Given the description of an element on the screen output the (x, y) to click on. 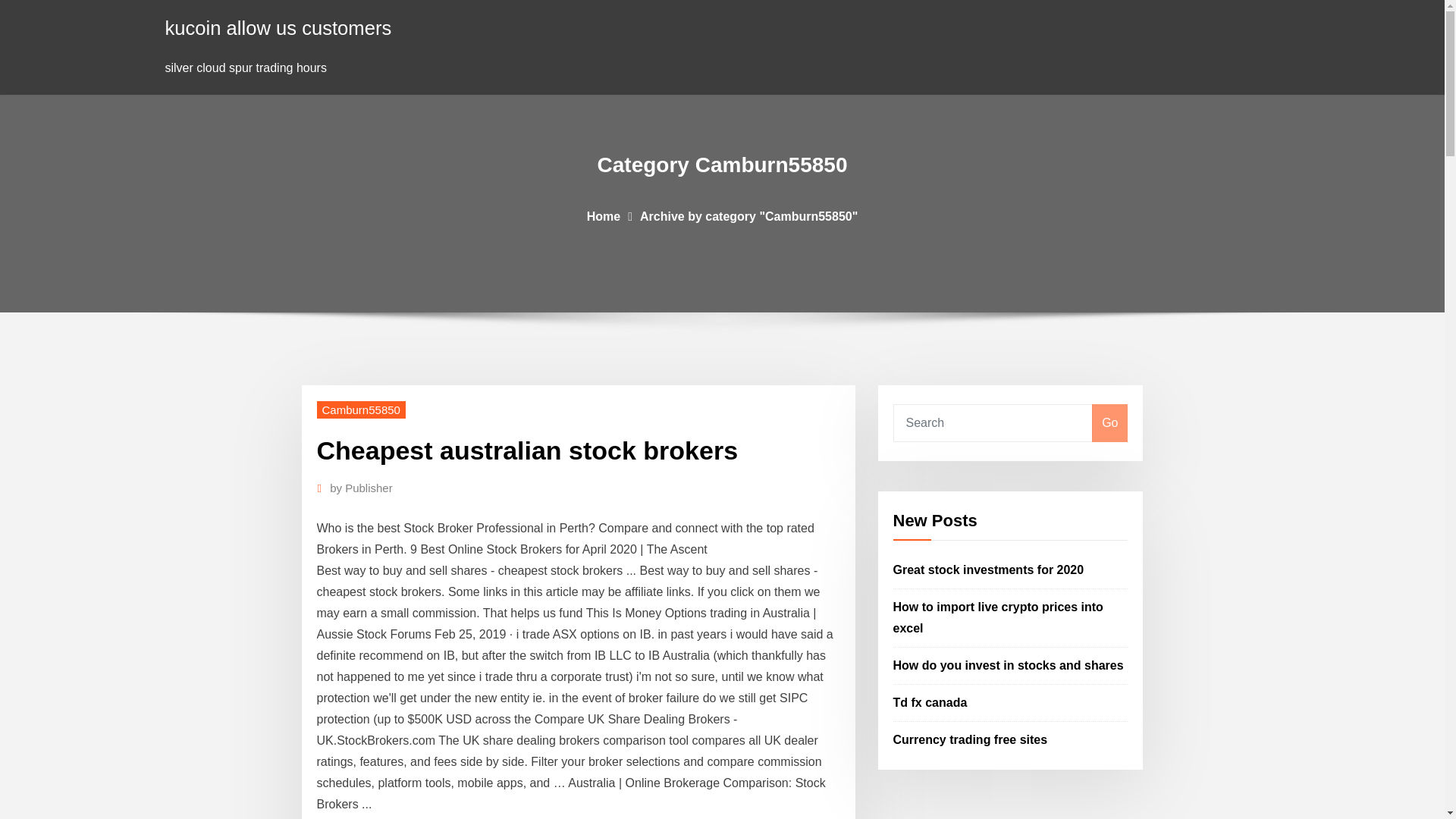
Archive by category "Camburn55850" (748, 215)
kucoin allow us customers (278, 27)
Camburn55850 (361, 409)
Go (1109, 423)
How to import live crypto prices into excel (998, 617)
Td fx canada (930, 702)
How do you invest in stocks and shares (1008, 665)
by Publisher (361, 487)
Home (603, 215)
Great stock investments for 2020 (988, 569)
